Given the description of an element on the screen output the (x, y) to click on. 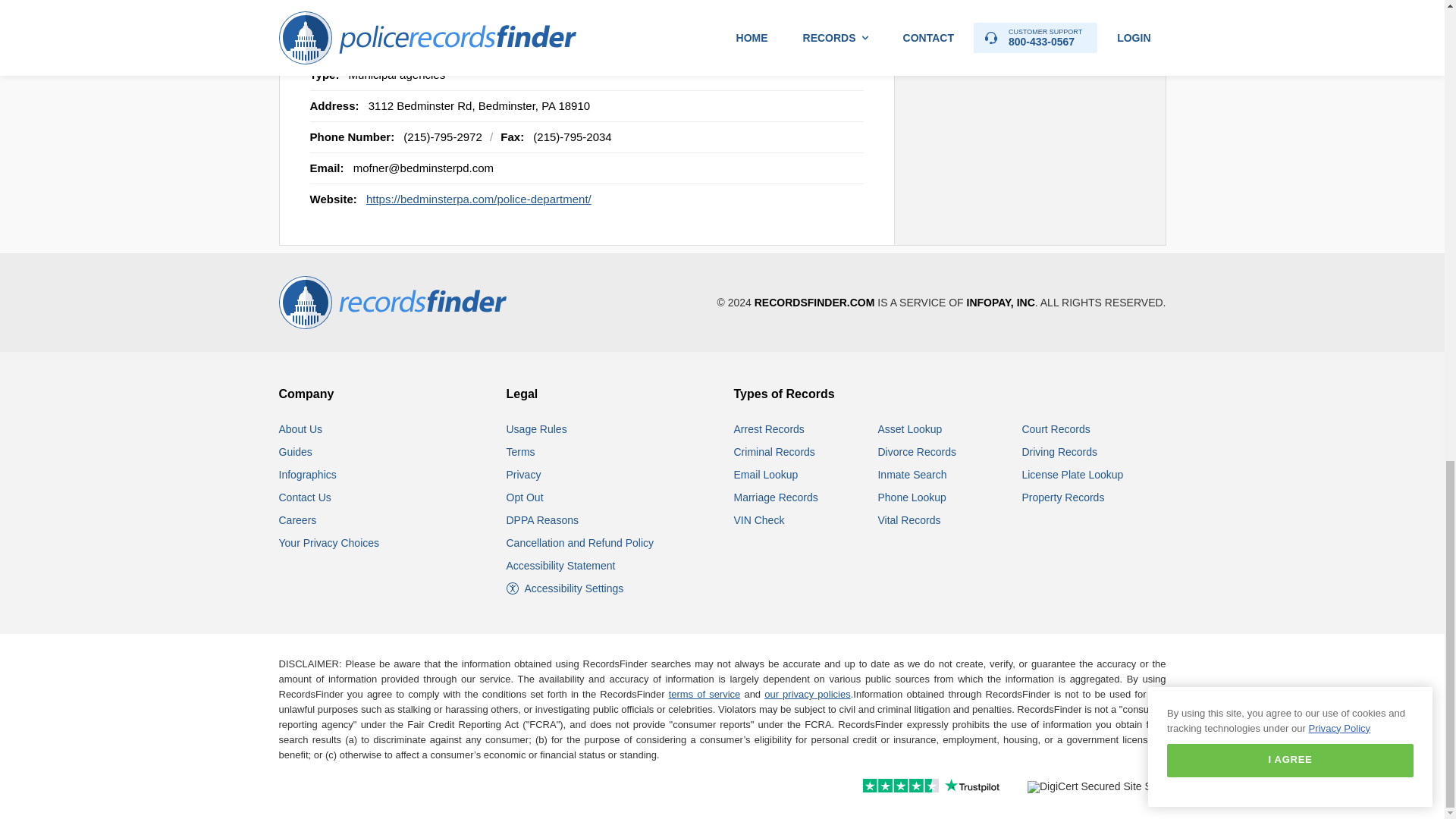
Careers at RecordsFinder.com (298, 520)
About RecordsFinder.com (301, 428)
Your Privacy Choices (329, 542)
Customer reviews powered by Trustpilot (897, 787)
RecordsFinder.com Privacy Policy (523, 474)
Guides and How tos (296, 451)
RecordsFinder.com Opt Out Instructions (524, 497)
RecordsFinder.com Accessibility Statement (560, 565)
RecordsFinder.com DPPA Reasons (542, 520)
RecordsFinder.com Terms and Conditions (520, 451)
